Given the description of an element on the screen output the (x, y) to click on. 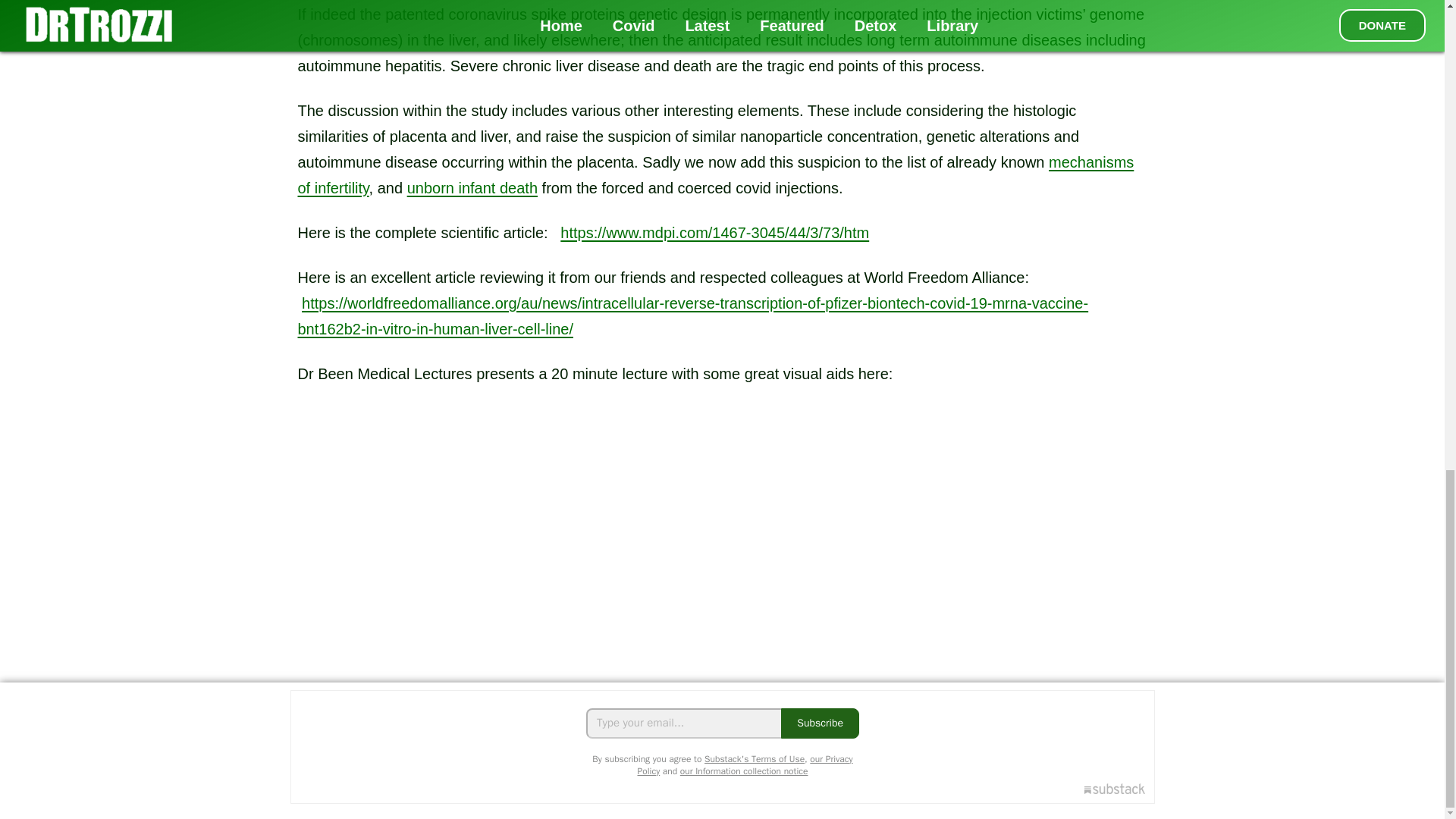
unborn infant death (472, 187)
mechanisms of infertility (715, 174)
